Given the description of an element on the screen output the (x, y) to click on. 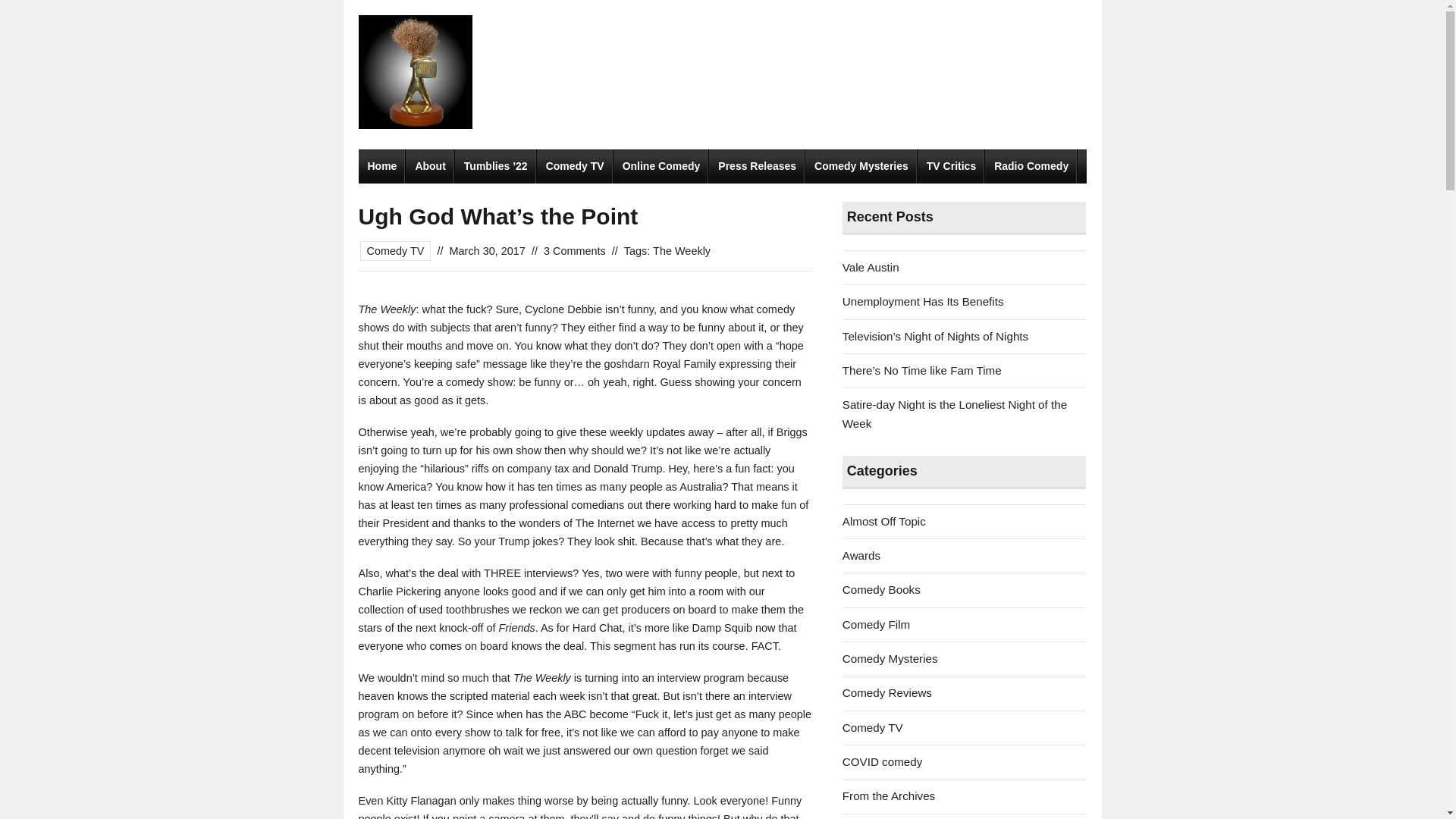
COVID comedy (883, 761)
Comedy Mysteries (890, 658)
Radio Comedy (1031, 166)
Unemployment Has Its Benefits (923, 300)
Home (382, 166)
Comedy Film (876, 624)
Vale Austin (871, 267)
Comedy Mysteries (861, 166)
Comedy Reviews (887, 692)
From the Archives (888, 795)
